Given the description of an element on the screen output the (x, y) to click on. 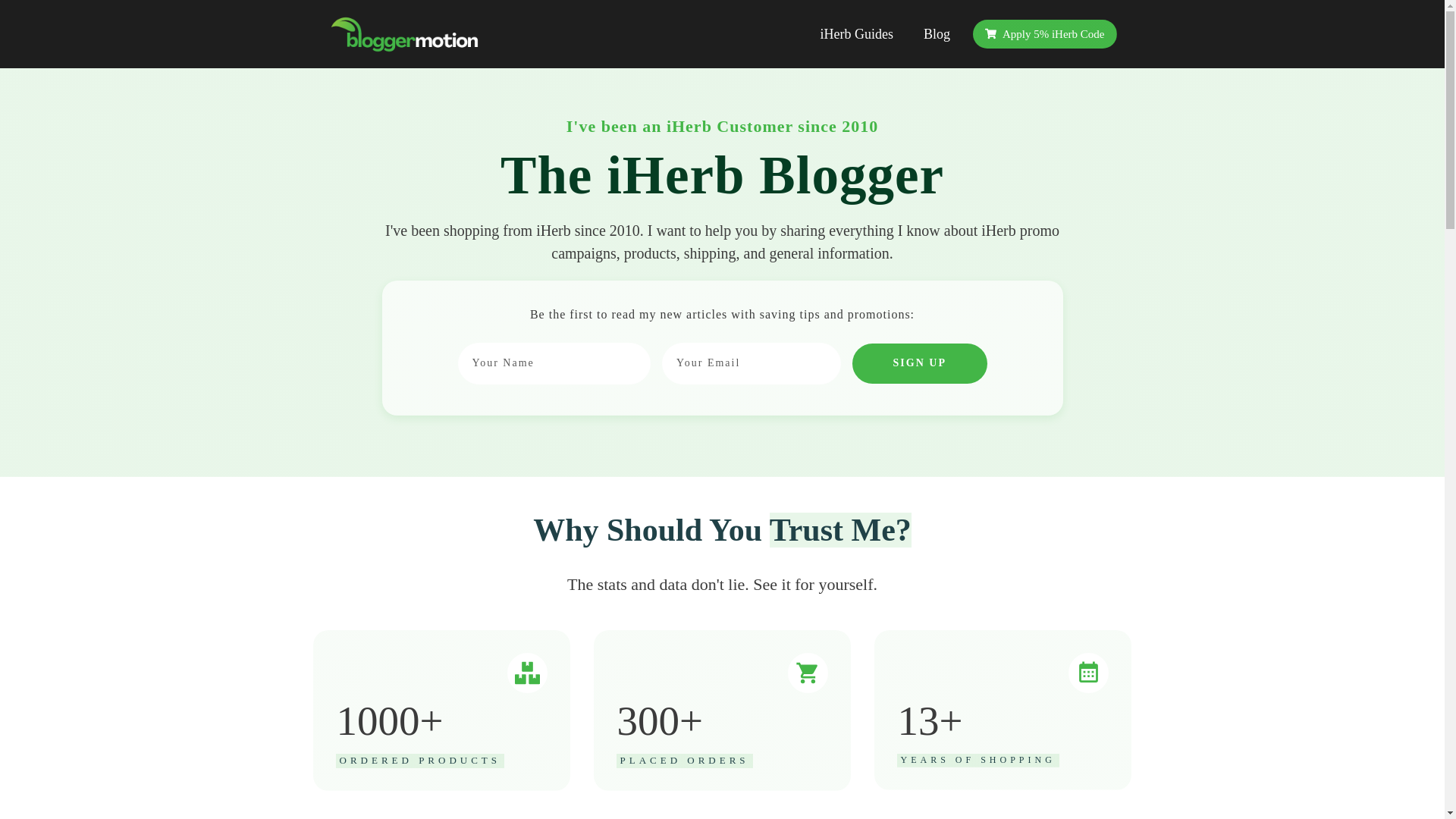
SIGN UP (919, 363)
Blog (936, 33)
iHerb Guides (855, 33)
